Given the description of an element on the screen output the (x, y) to click on. 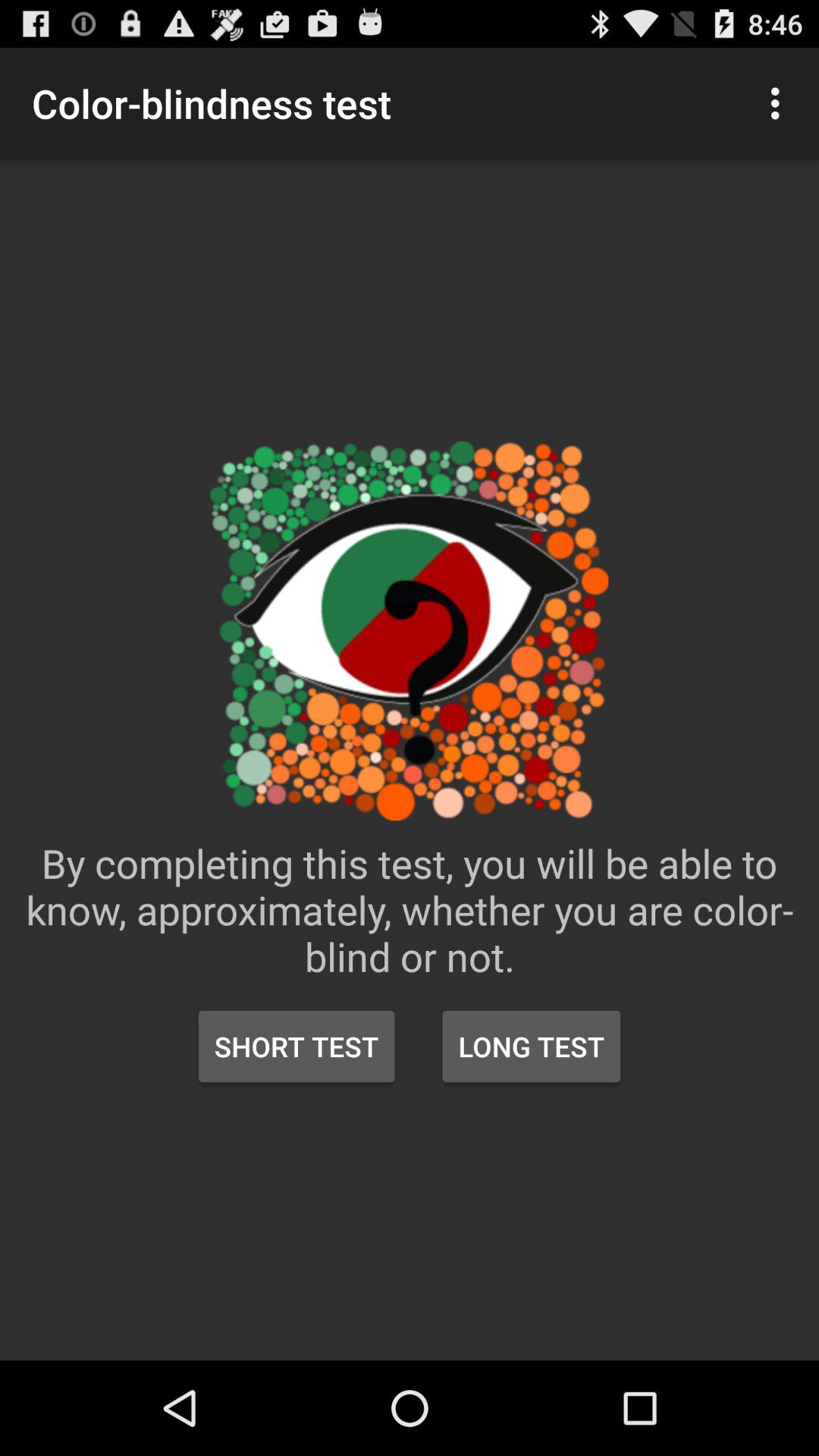
choose long test icon (531, 1046)
